Given the description of an element on the screen output the (x, y) to click on. 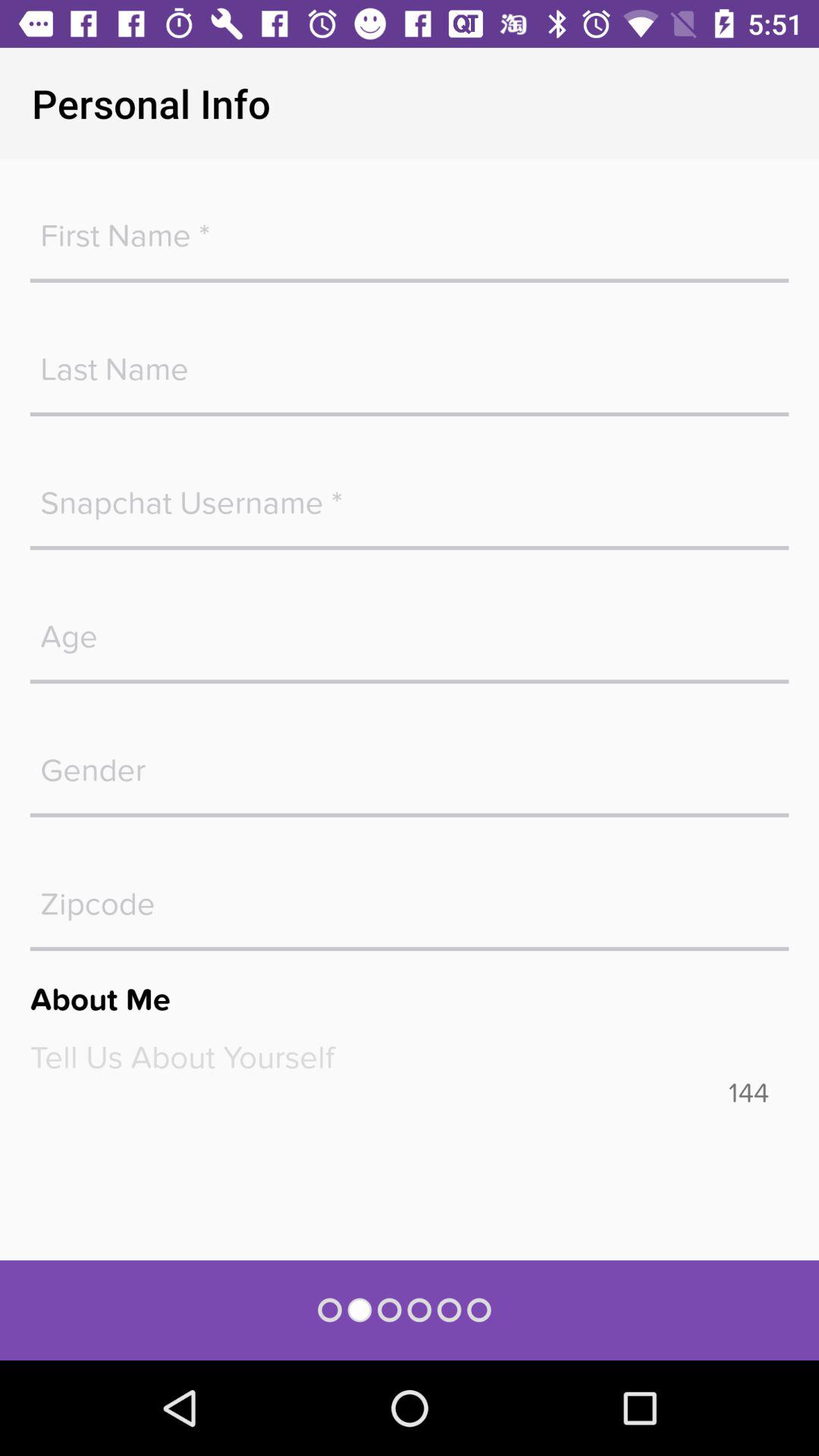
enter zipcode field (409, 895)
